Given the description of an element on the screen output the (x, y) to click on. 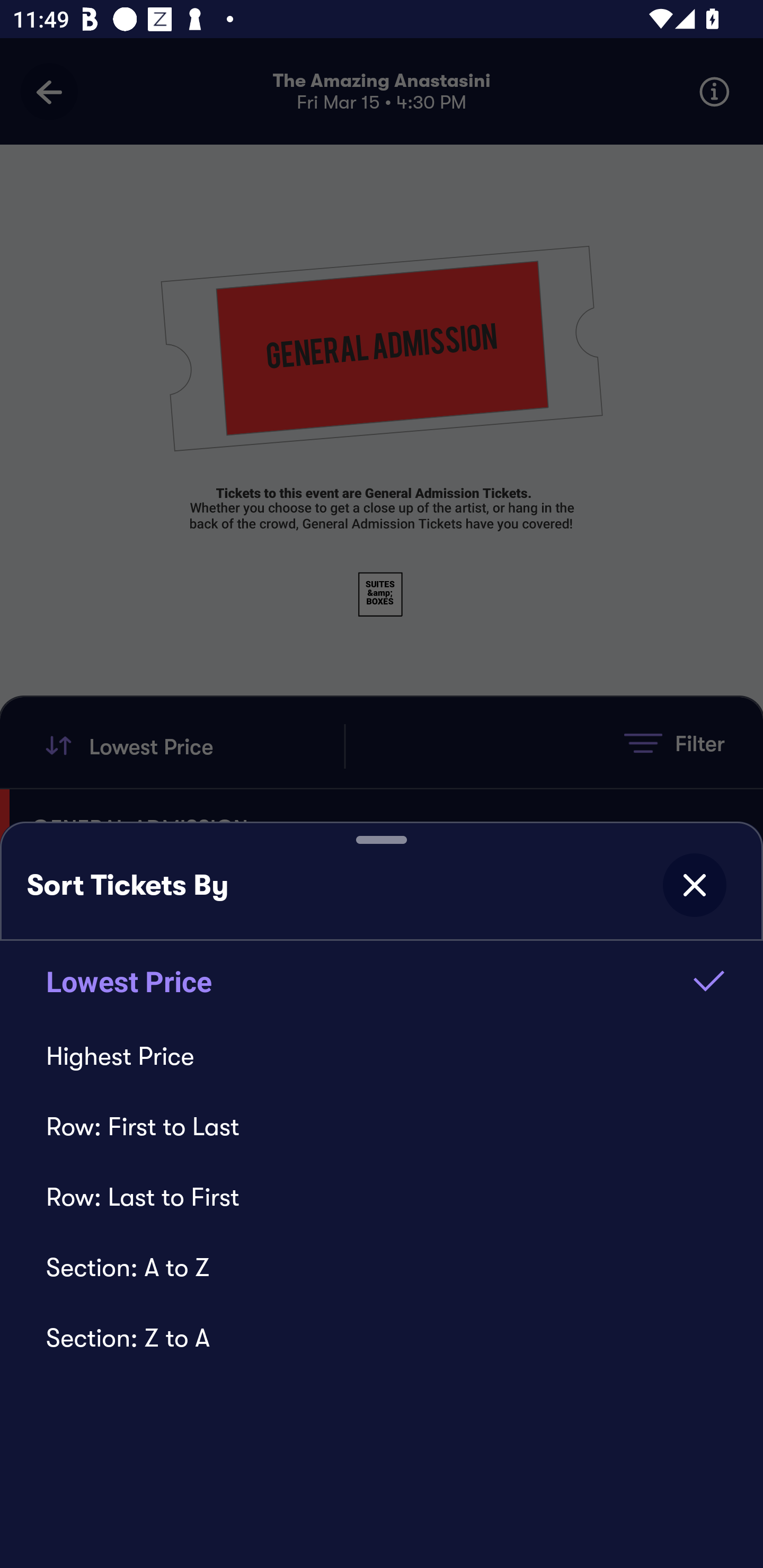
close (694, 884)
Lowest Price (381, 980)
Highest Price (381, 1055)
Row: First to Last (381, 1126)
Row: Last to First (381, 1196)
Section: A to Z (381, 1267)
Section: Z to A (381, 1338)
